Given the description of an element on the screen output the (x, y) to click on. 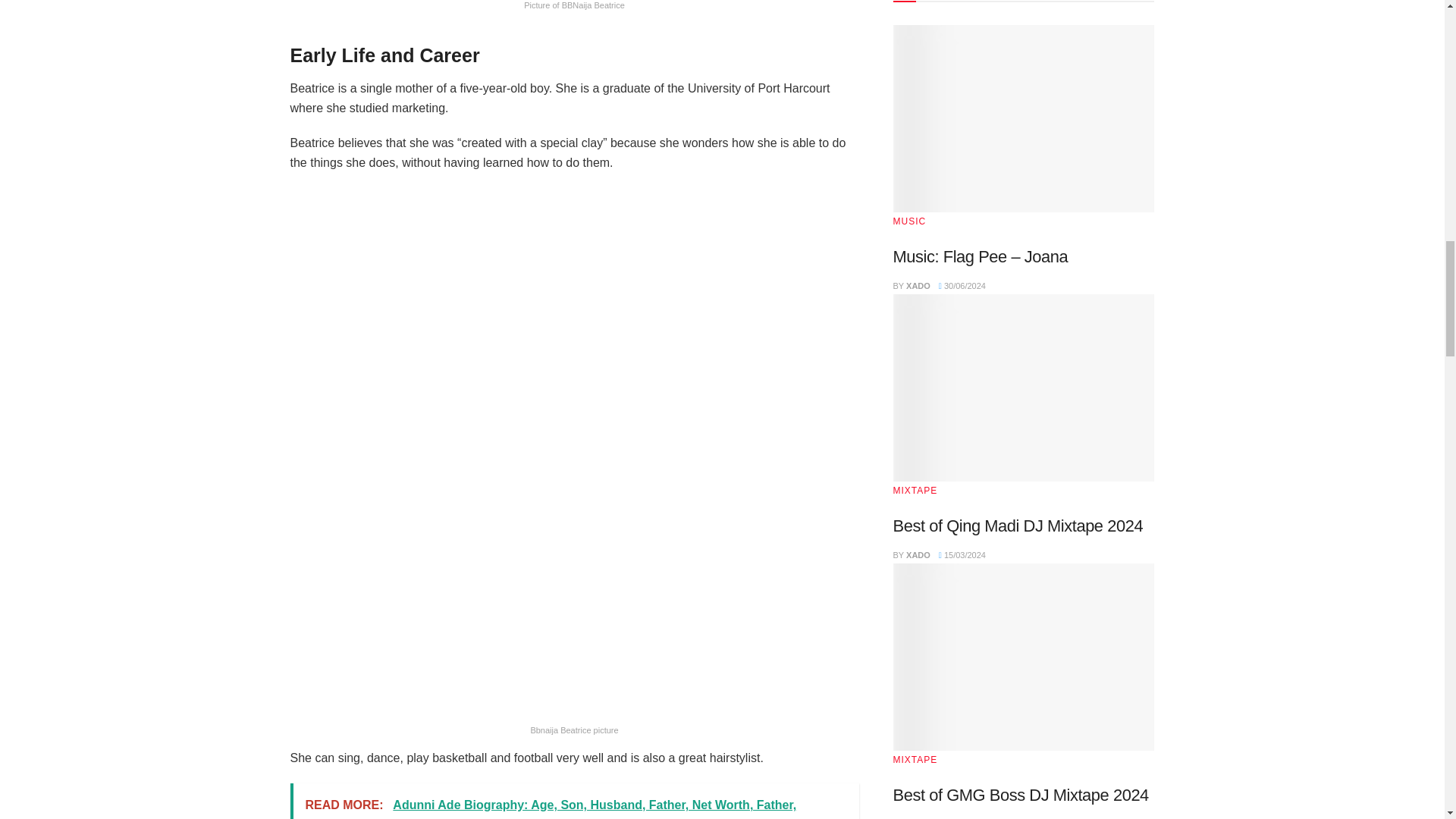
Music: Flag Pee - Joana 17 (1023, 118)
Best of Qing Madi DJ Mixtape 2024 18 (1023, 387)
